Given the description of an element on the screen output the (x, y) to click on. 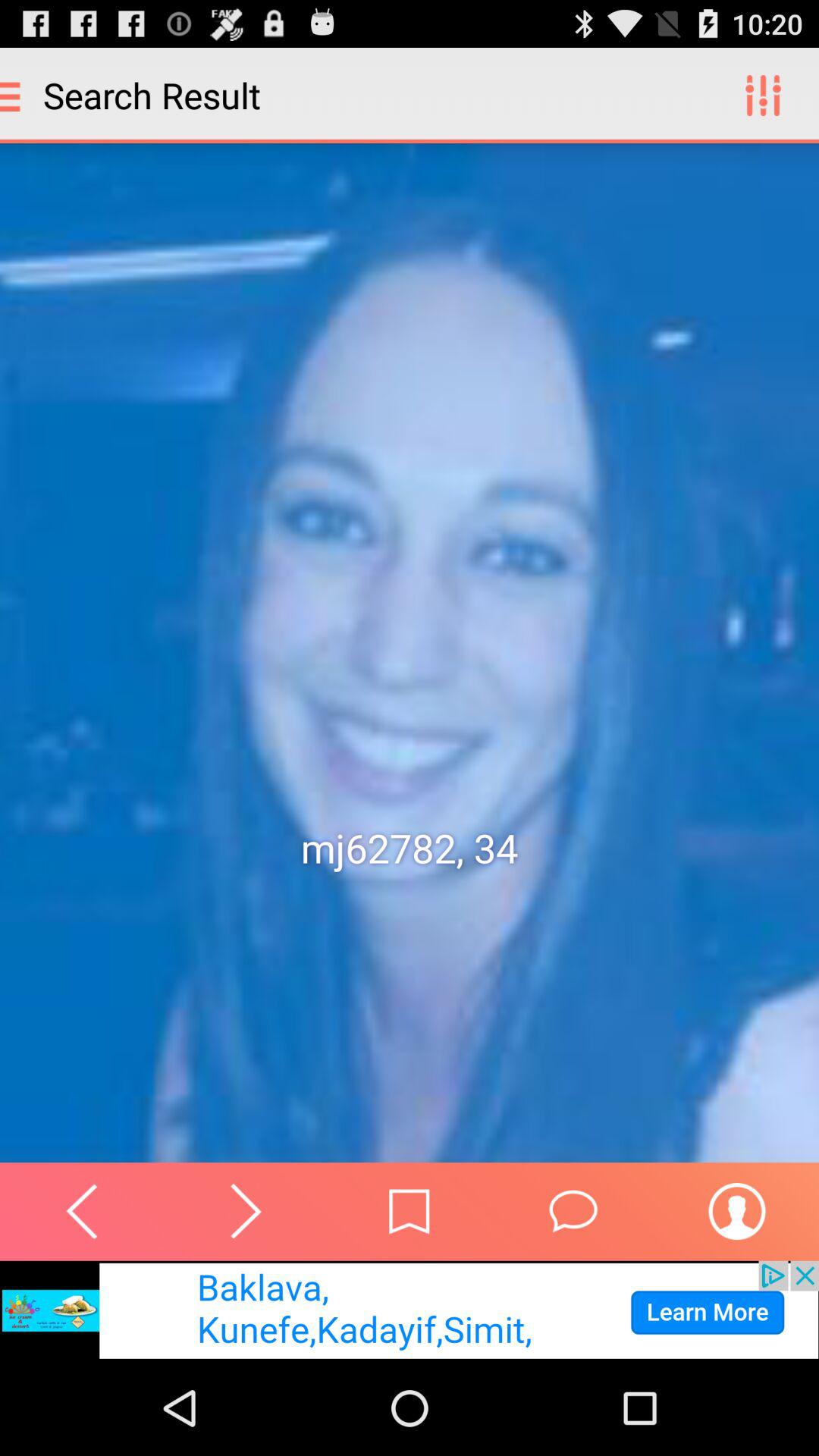
go back (81, 1211)
